Given the description of an element on the screen output the (x, y) to click on. 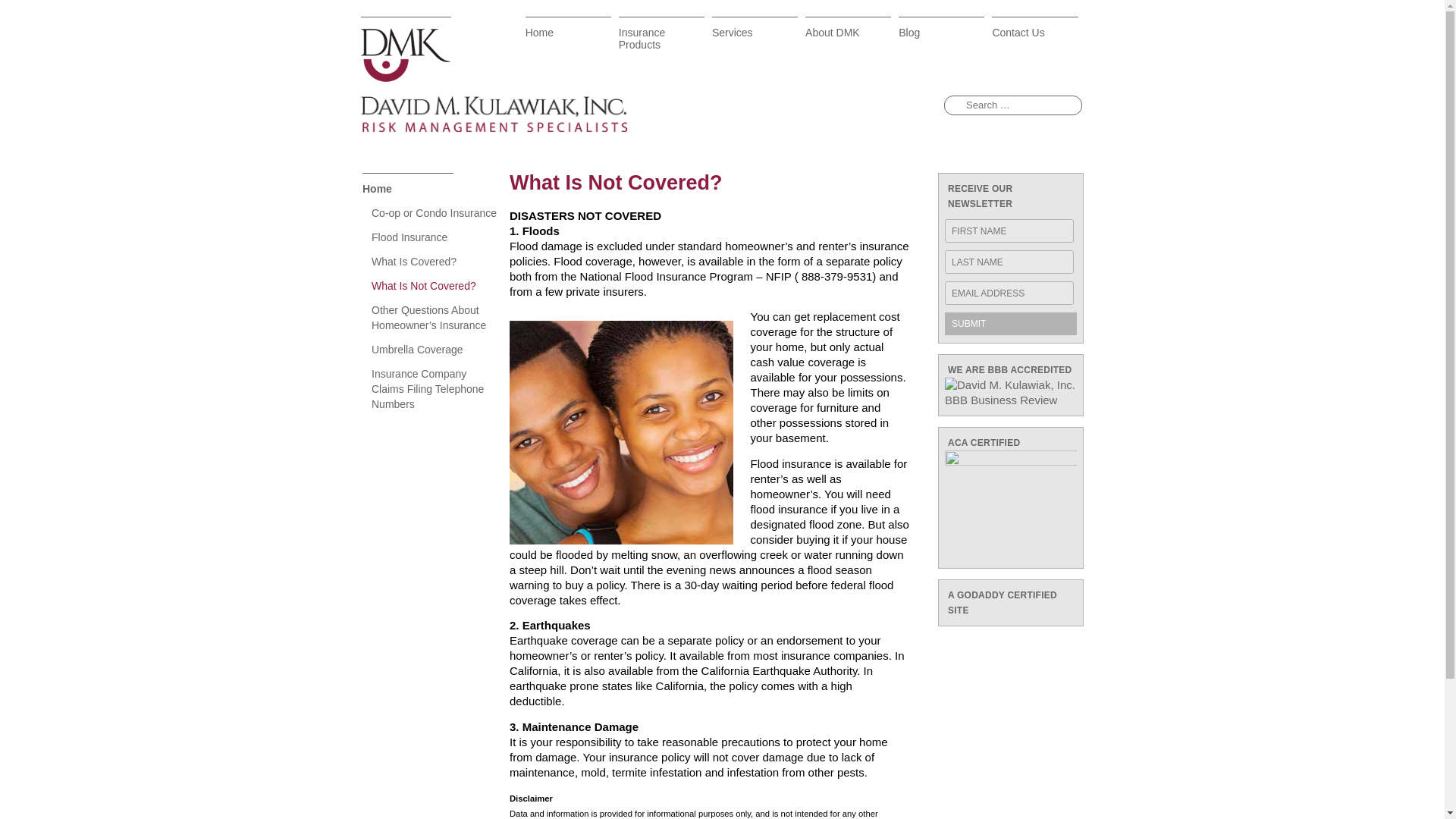
Home (568, 37)
Insurance Products (661, 37)
SUBMIT (1010, 323)
